Given the description of an element on the screen output the (x, y) to click on. 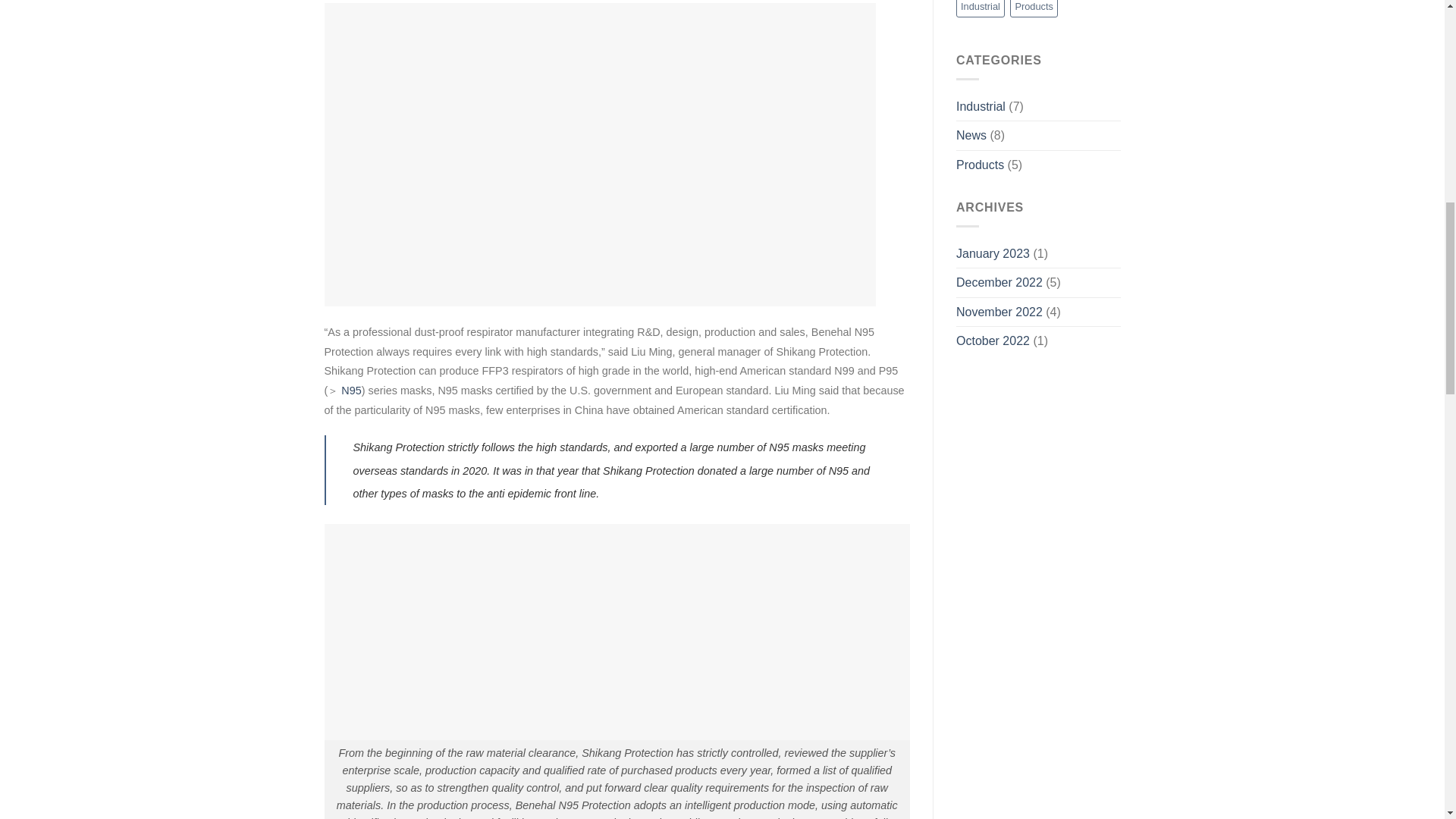
N95 (350, 390)
